Given the description of an element on the screen output the (x, y) to click on. 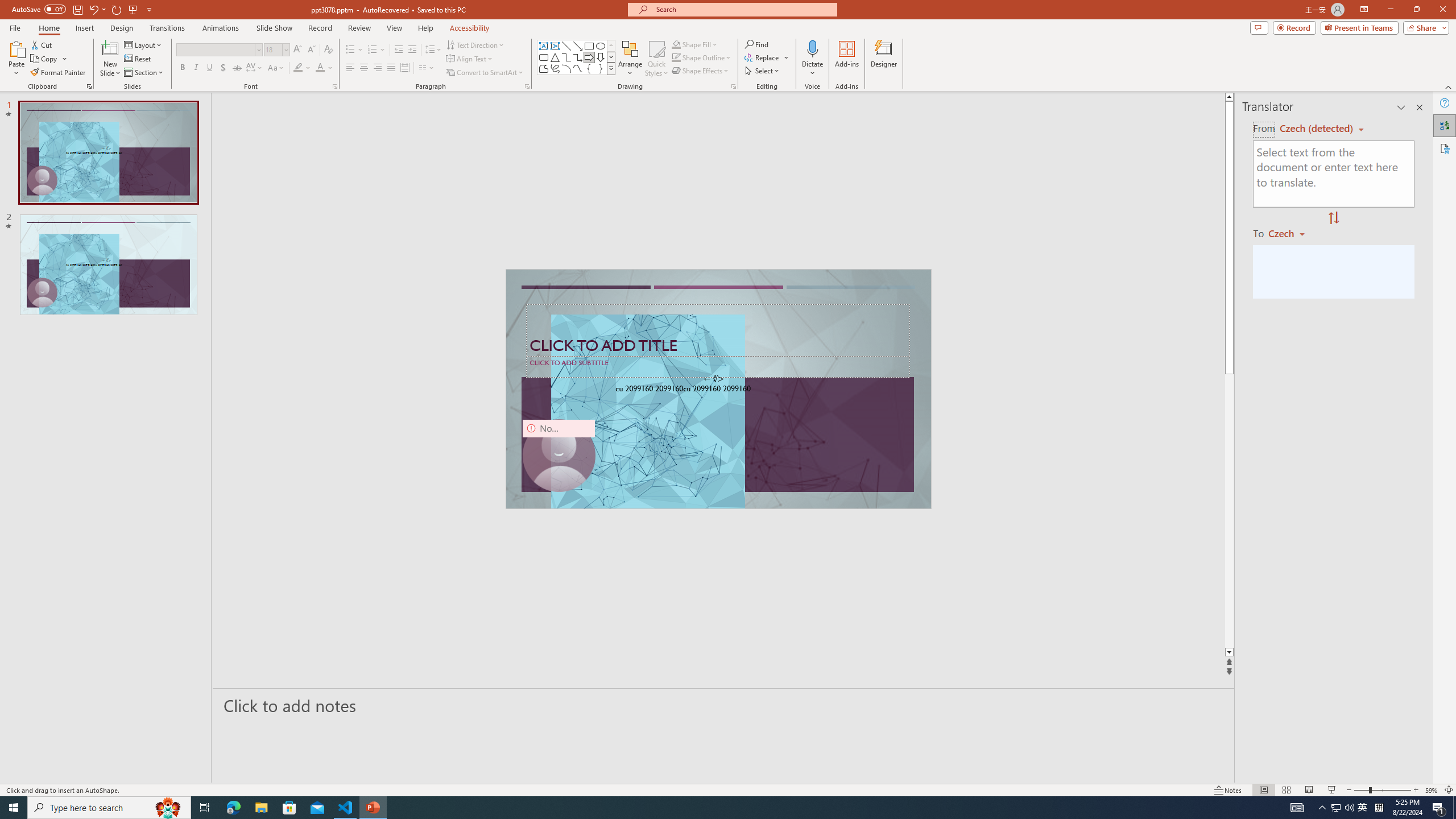
Terminal 2 bash (995, 229)
Toggle Panel (Ctrl+J) (989, 150)
Search (Ctrl+Shift+F) (76, 265)
No Problems (121, 766)
Launch Profile... (955, 182)
Source Control (Ctrl+Shift+G) (76, 309)
Run and Debug (Ctrl+Shift+D) (76, 353)
Terminal 1 bash (995, 209)
